Given the description of an element on the screen output the (x, y) to click on. 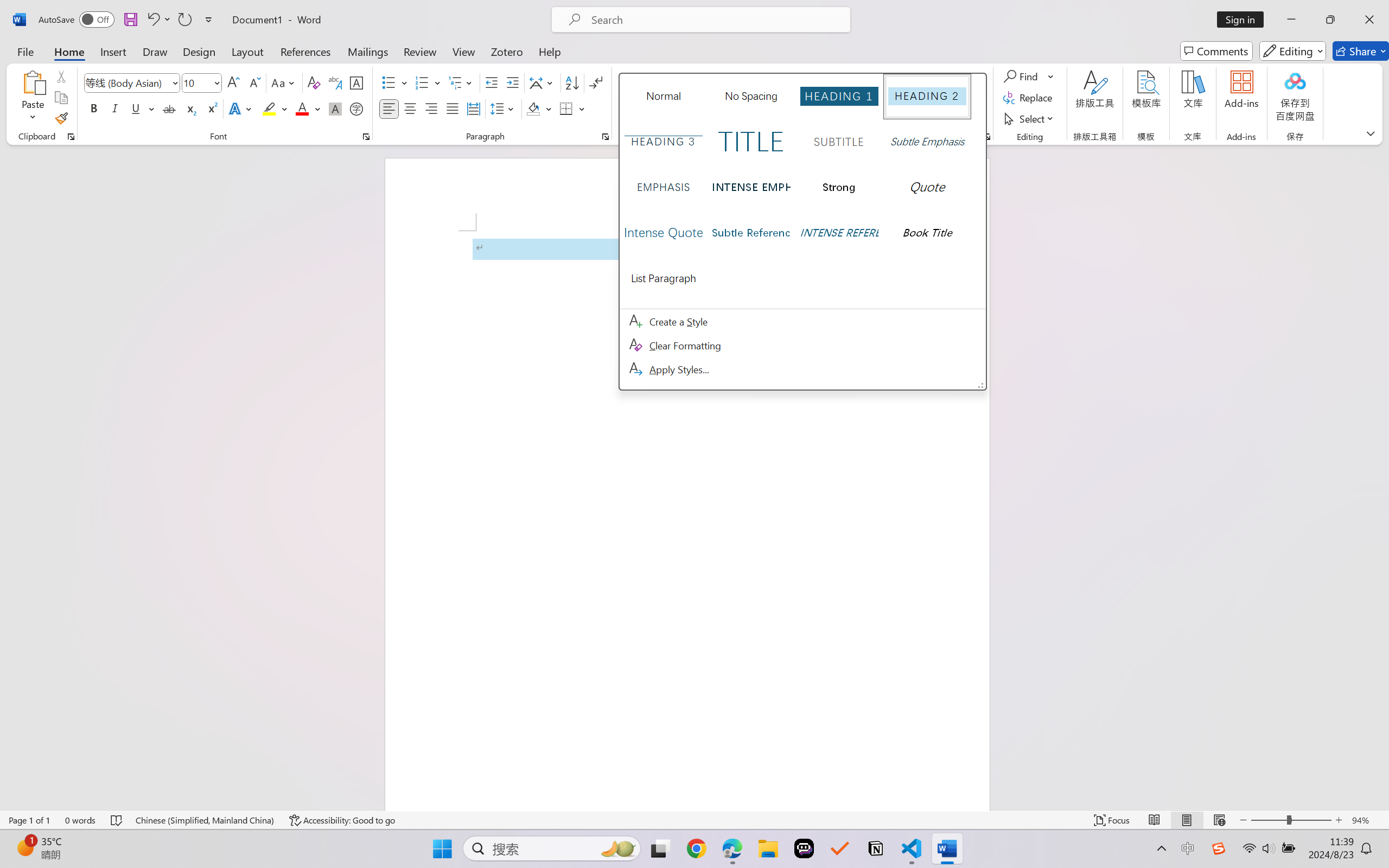
Repeat Style (184, 19)
Undo Apply Quick Style (158, 19)
